Given the description of an element on the screen output the (x, y) to click on. 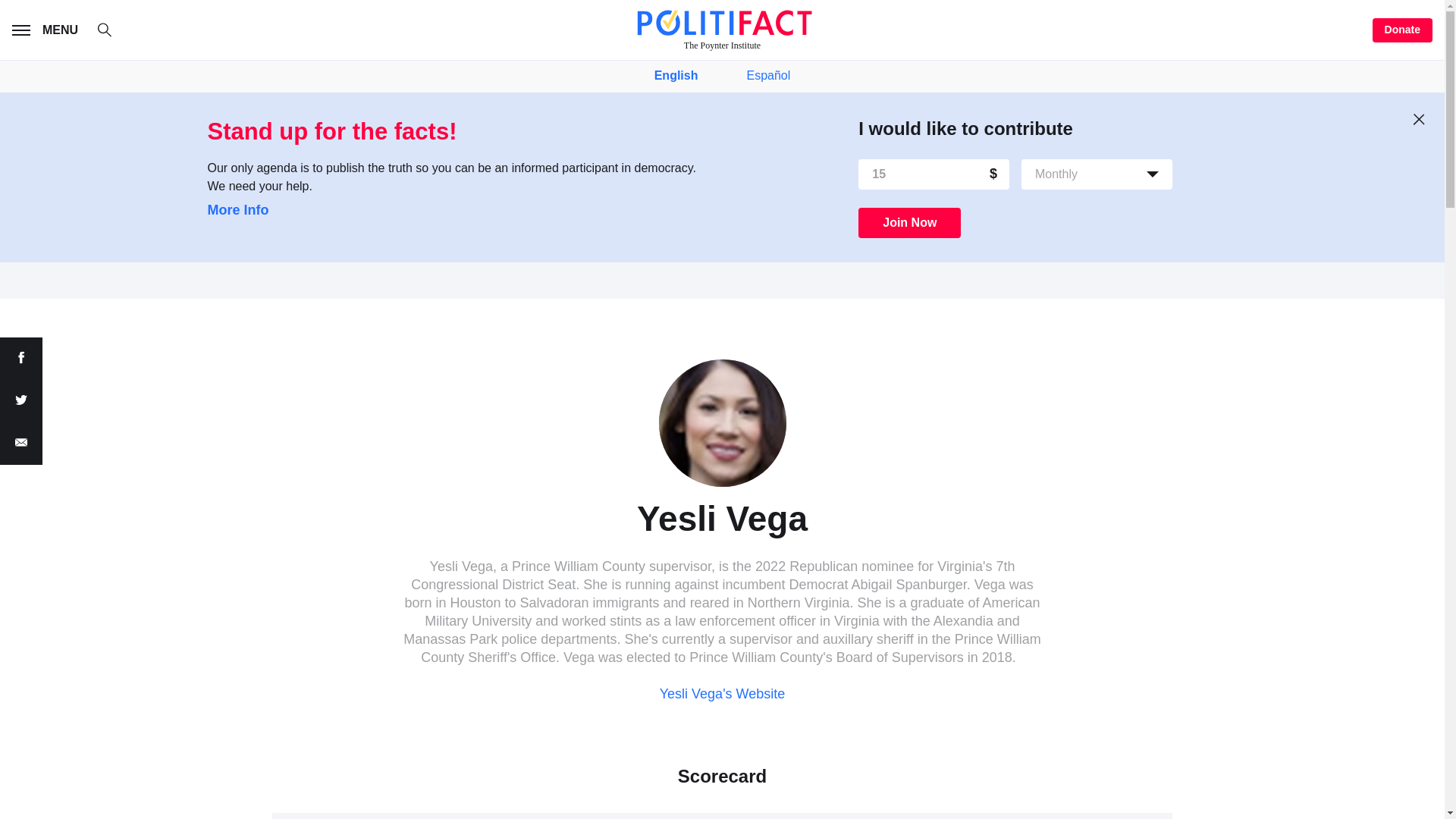
Search (111, 31)
Donate (1402, 30)
The Poynter Institute (721, 29)
MENU (47, 30)
